Given the description of an element on the screen output the (x, y) to click on. 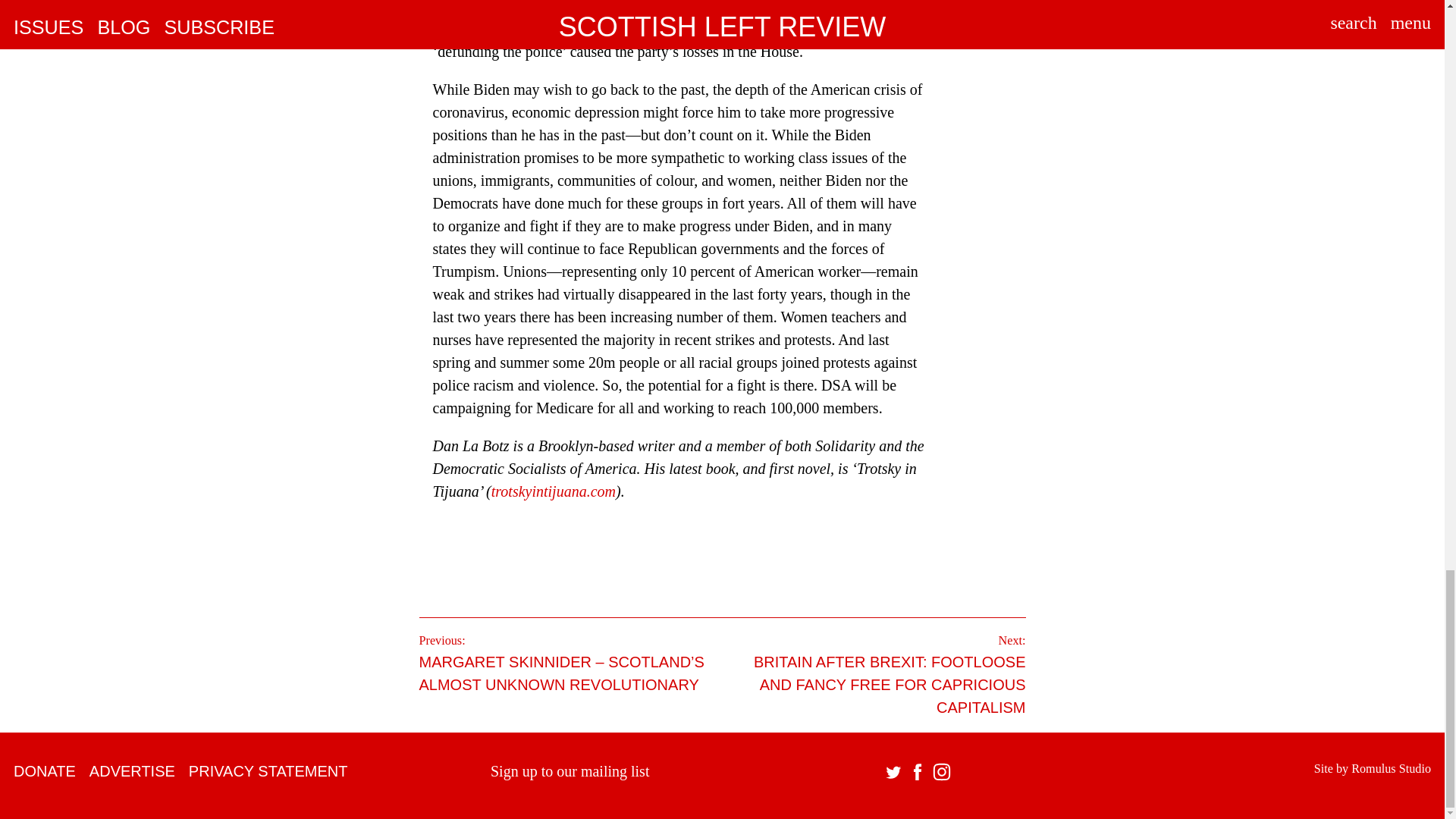
ADVERTISE (131, 770)
trotskyintijuana.com (553, 491)
PRIVACY STATEMENT (268, 770)
DONATE (44, 770)
Romulus Studio (1391, 768)
